Given the description of an element on the screen output the (x, y) to click on. 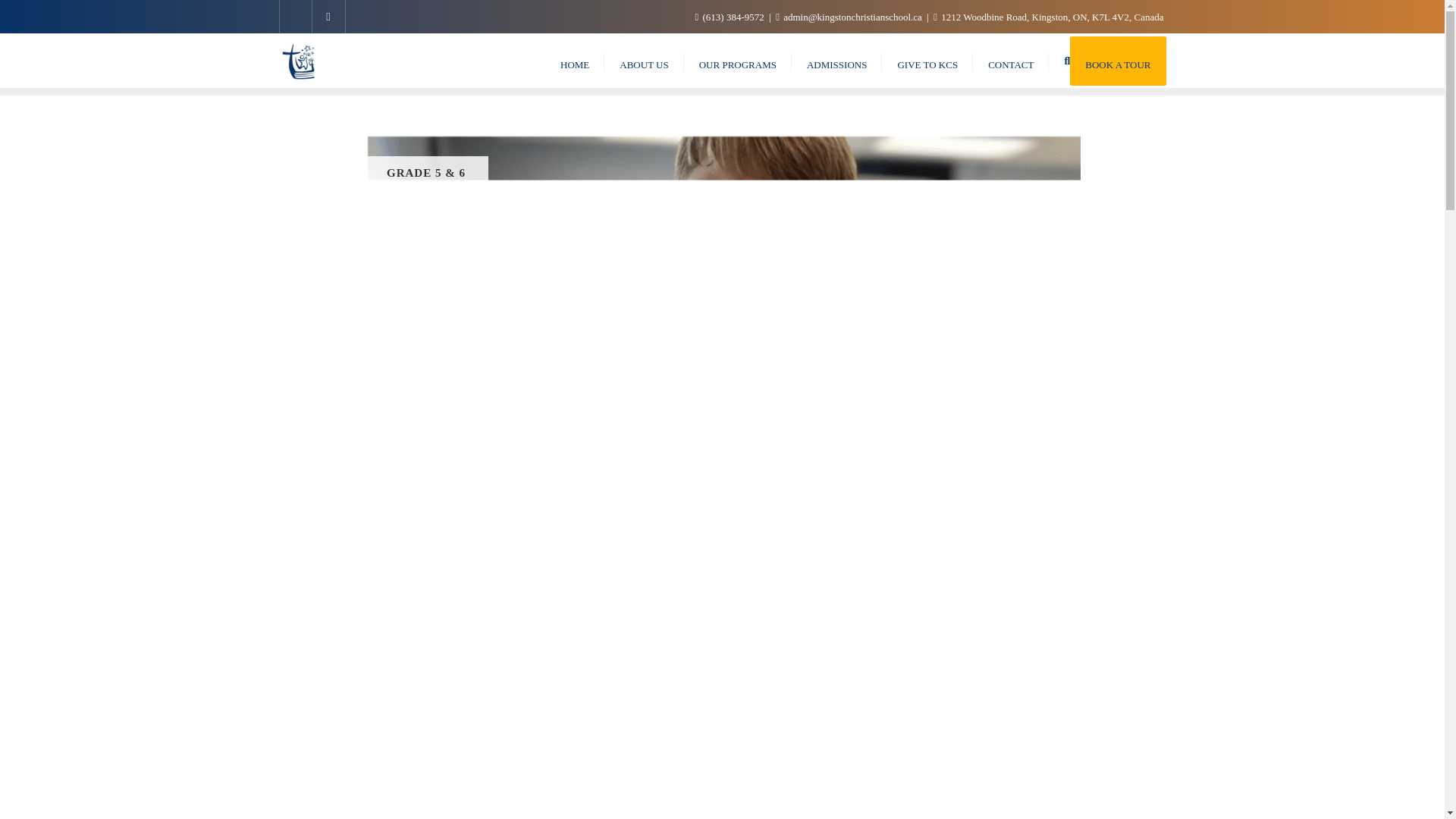
OUR PROGRAMS (738, 60)
CONTACT (1010, 60)
ABOUT US (643, 60)
1212 Woodbine Road, Kingston, ON, K7L 4V2, Canada (1048, 16)
BOOK A TOUR (1118, 60)
HOME (574, 60)
ADMISSIONS (837, 60)
GIVE TO KCS (927, 60)
